Given the description of an element on the screen output the (x, y) to click on. 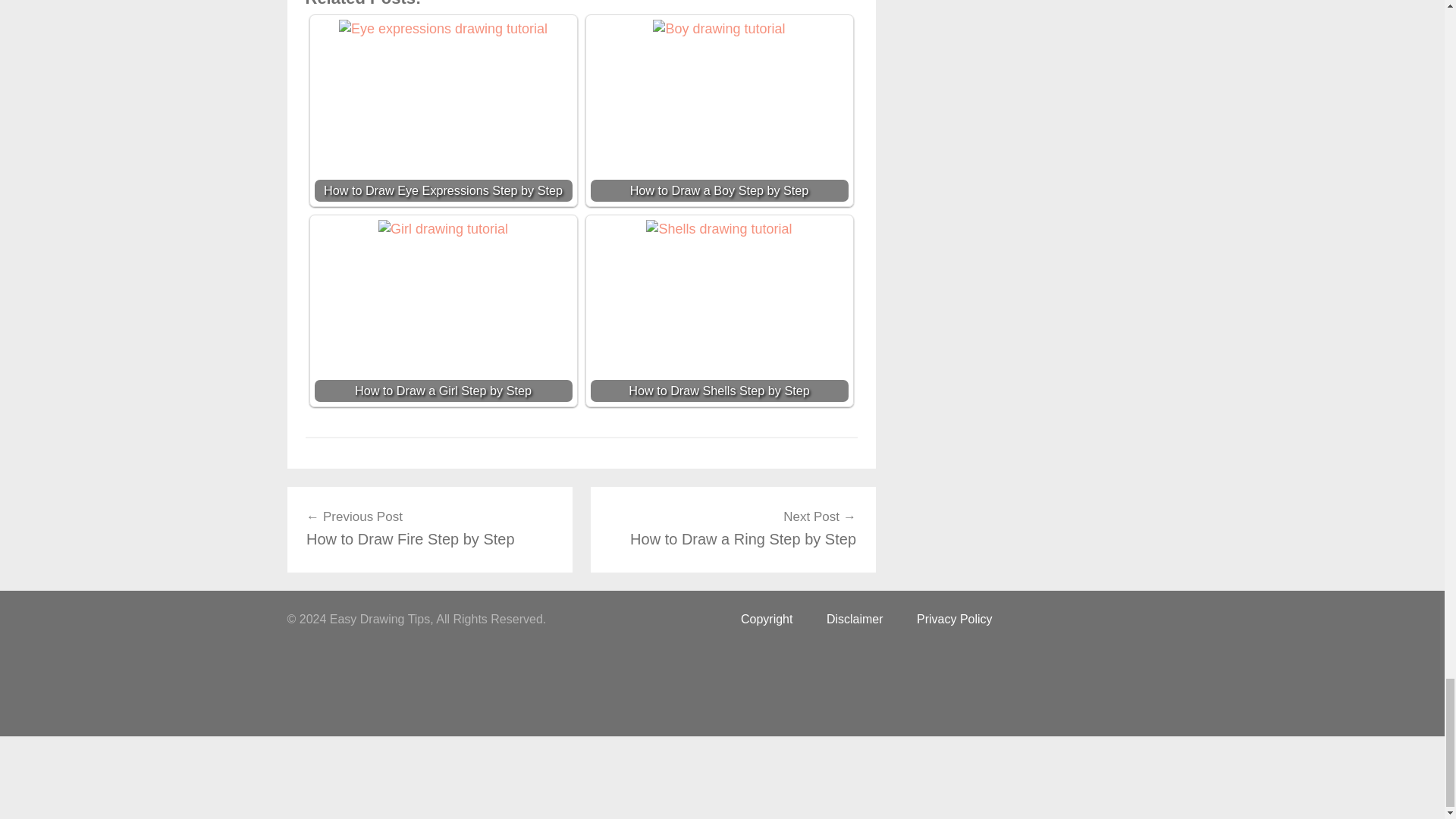
How to Draw Shells Step by Step (719, 229)
How to Draw Shells Step by Step (733, 527)
How to Draw Eye Expressions Step by Step (429, 527)
How to Draw a Boy Step by Step (718, 311)
How to Draw a Boy Step by Step (443, 110)
How to Draw a Girl Step by Step (718, 28)
How to Draw Eye Expressions Step by Step (718, 110)
How to Draw a Girl Step by Step (443, 229)
